Given the description of an element on the screen output the (x, y) to click on. 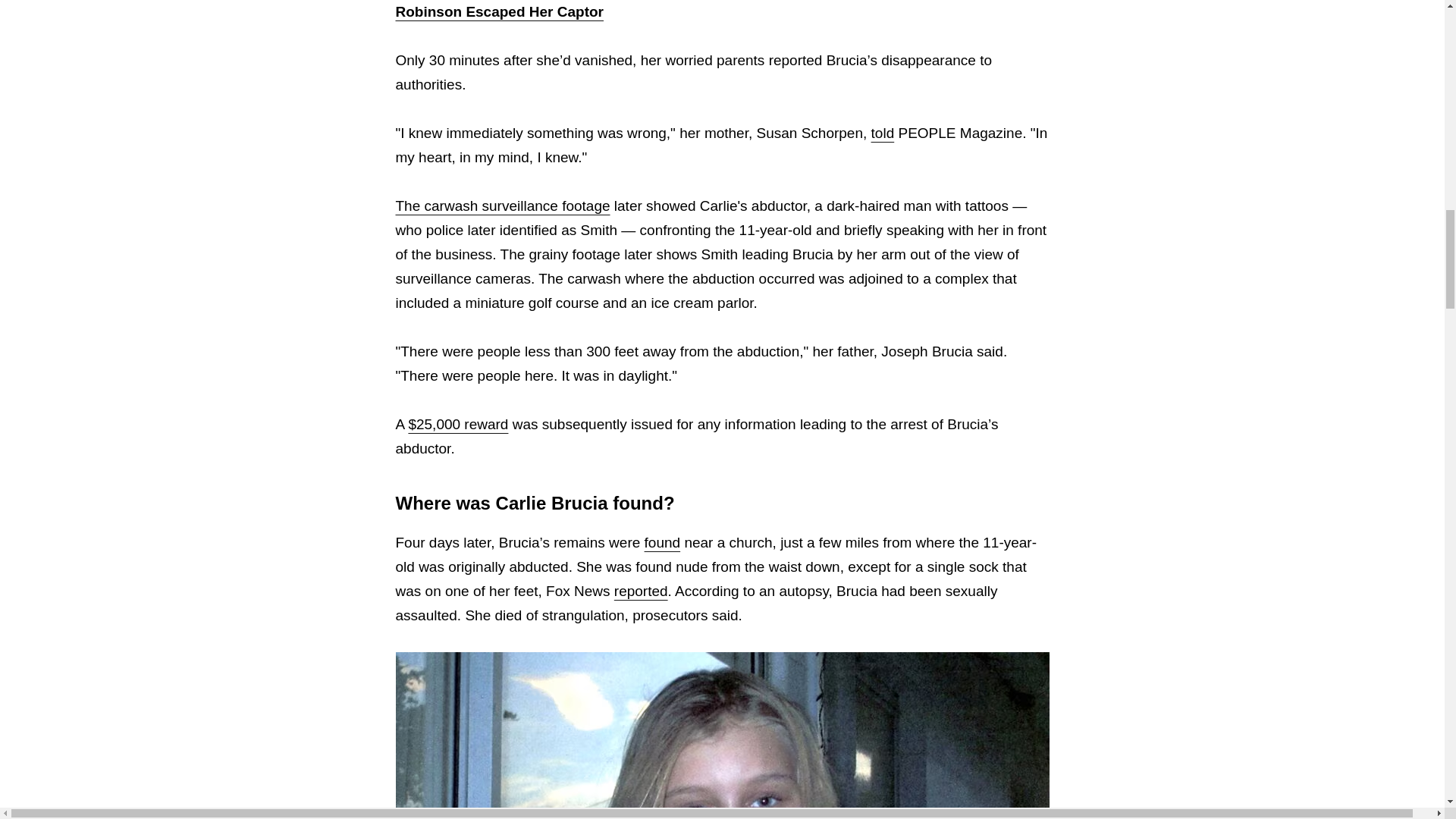
The carwash surveillance footage (503, 205)
reported (641, 590)
found (663, 542)
told (882, 132)
